Given the description of an element on the screen output the (x, y) to click on. 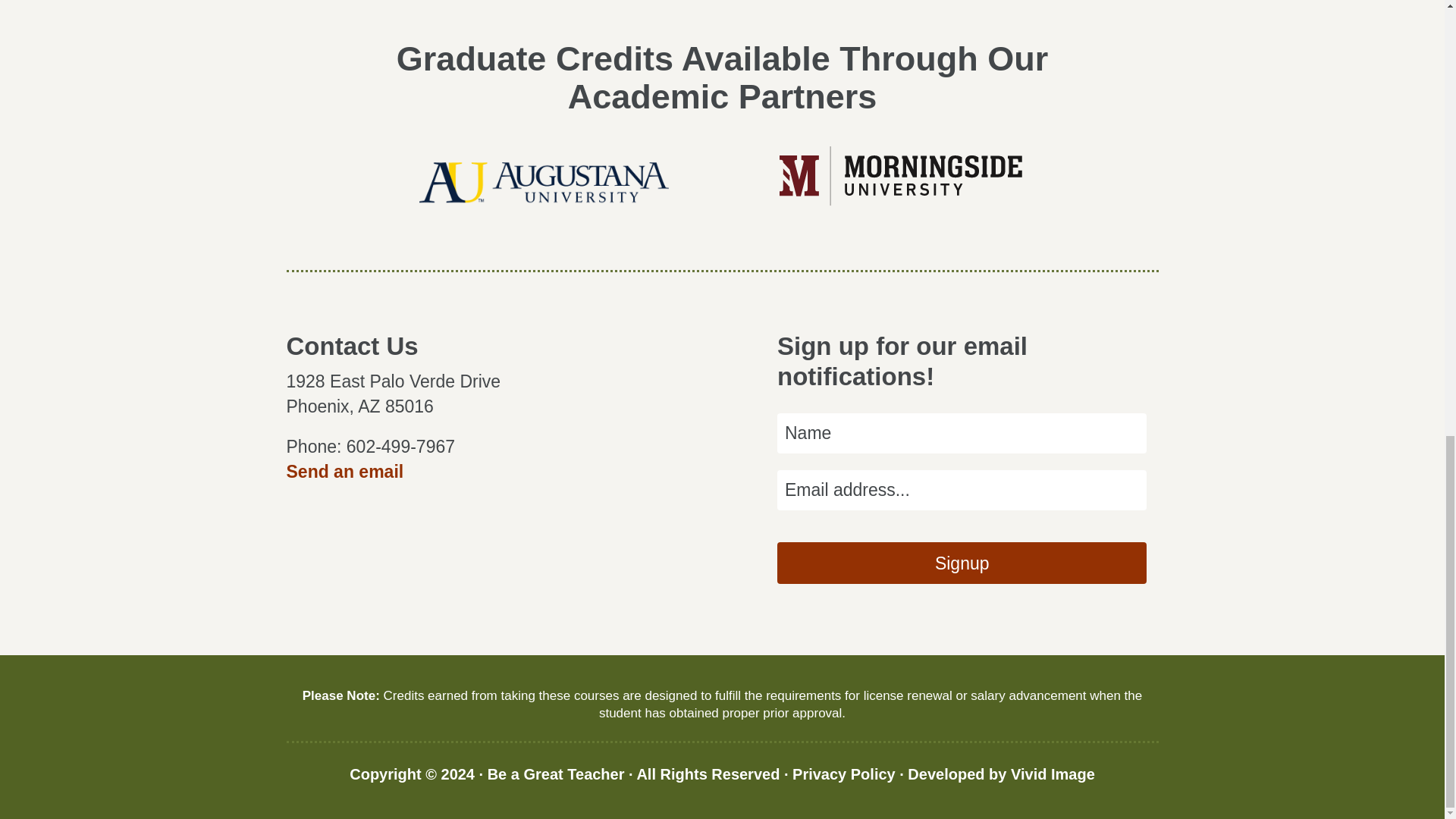
Privacy Policy (843, 773)
Send an email (345, 471)
Vivid Image (1052, 773)
Signup (962, 562)
602-499-7967 (400, 446)
Signup (962, 562)
